Given the description of an element on the screen output the (x, y) to click on. 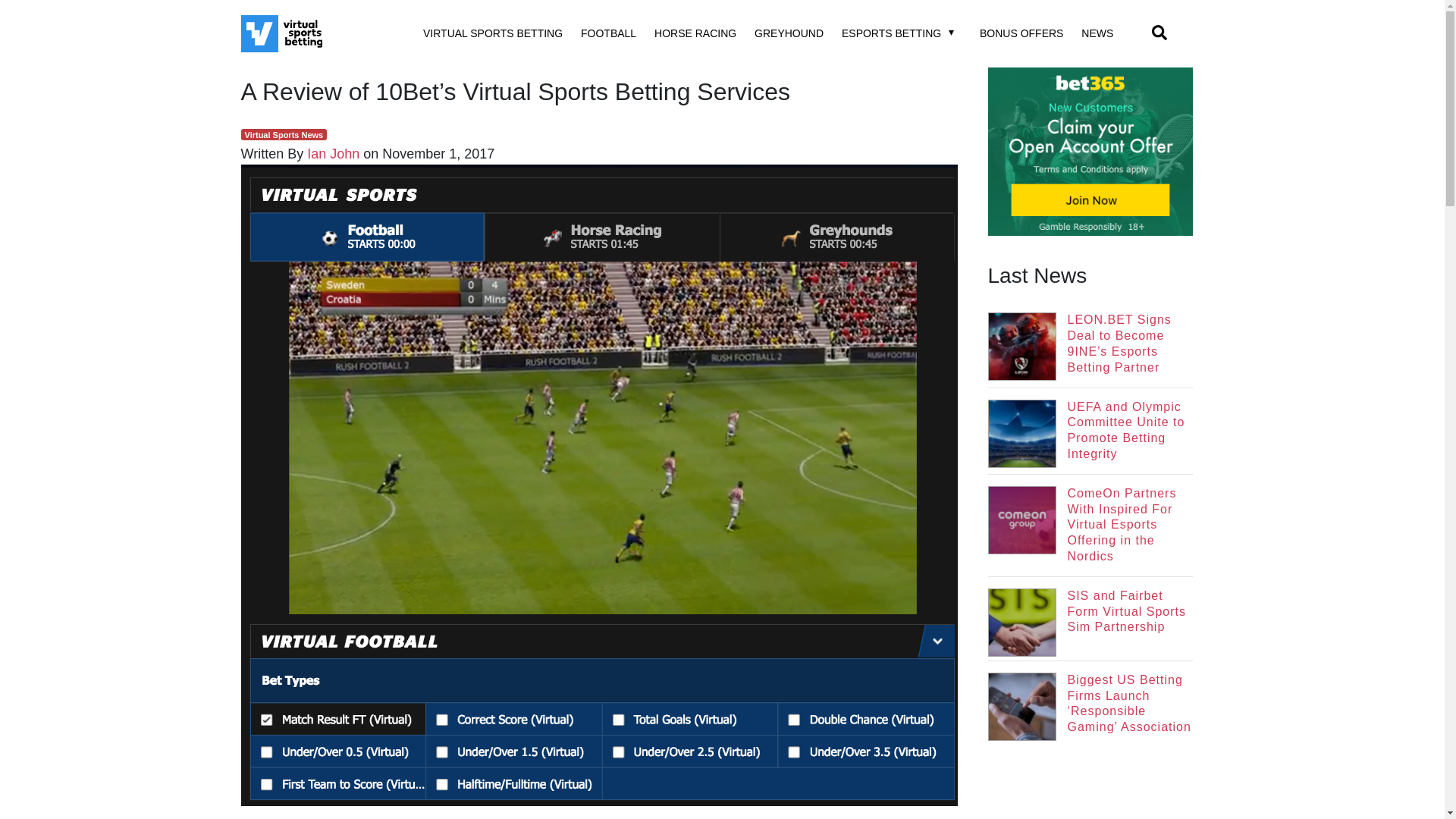
VIRTUAL SPORTS BETTING (492, 33)
ESPORTS BETTING (890, 33)
HORSE RACING (694, 33)
SIS and Fairbet Form Virtual Sports Sim Partnership (1089, 618)
BONUS OFFERS (1020, 33)
NEWS (1097, 33)
FOOTBALL (608, 33)
Virtual Sports News (284, 134)
Ian John (333, 153)
Virtual Sports Betting (313, 33)
GREYHOUND (789, 33)
